Given the description of an element on the screen output the (x, y) to click on. 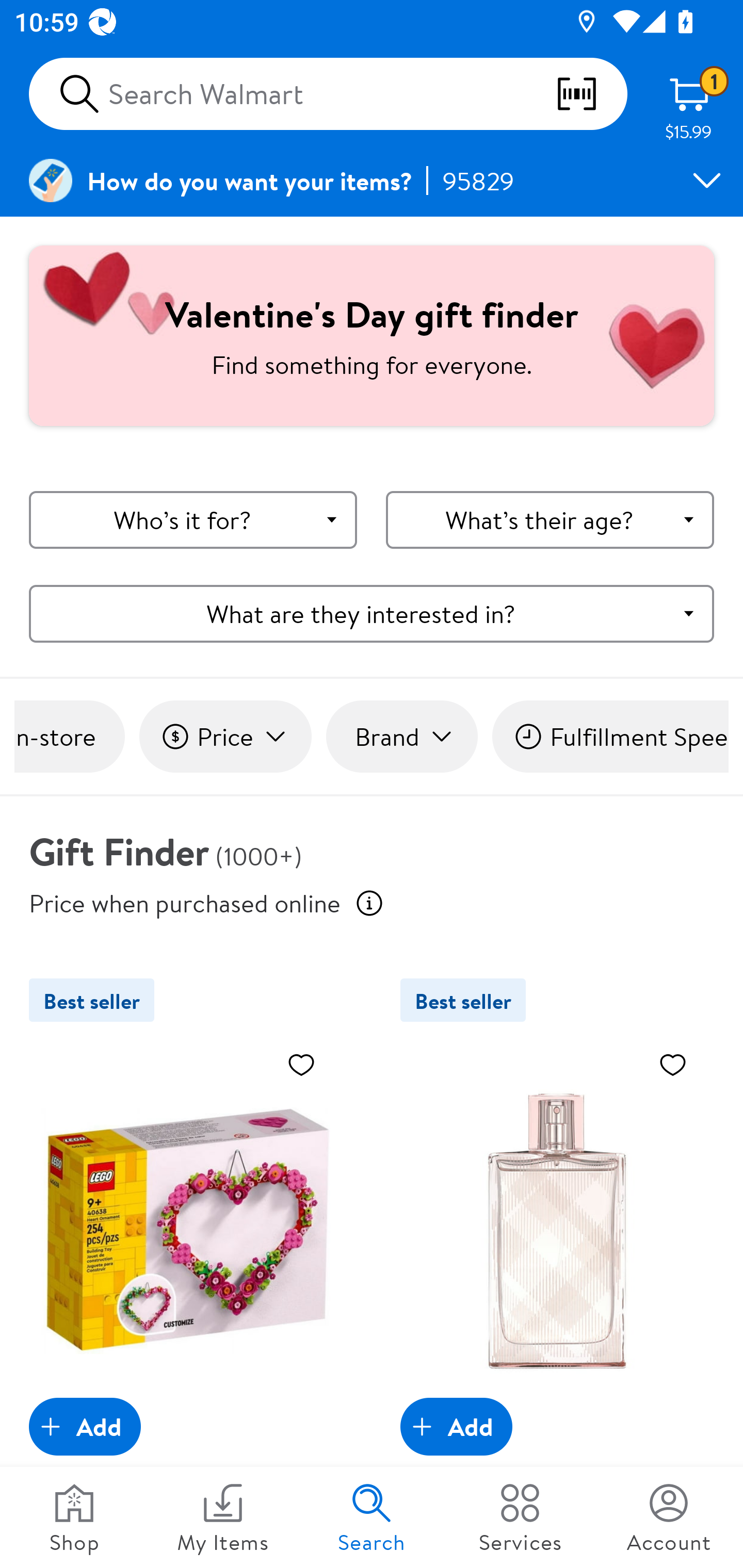
Search Walmart scan barcodes qr codes and more (327, 94)
scan barcodes qr codes and more (591, 94)
Who’s it for? (192, 520)
What’s their age? (549, 520)
What are they interested in? (371, 613)
Filter by In-store, not applied,  In-store (69, 736)
Filter by Brand, not applied,  Brand Select icon (401, 736)
Price when purchased online (184, 902)
Price when purchased online (369, 903)
Shop (74, 1517)
My Items (222, 1517)
Services (519, 1517)
Account (668, 1517)
